Given the description of an element on the screen output the (x, y) to click on. 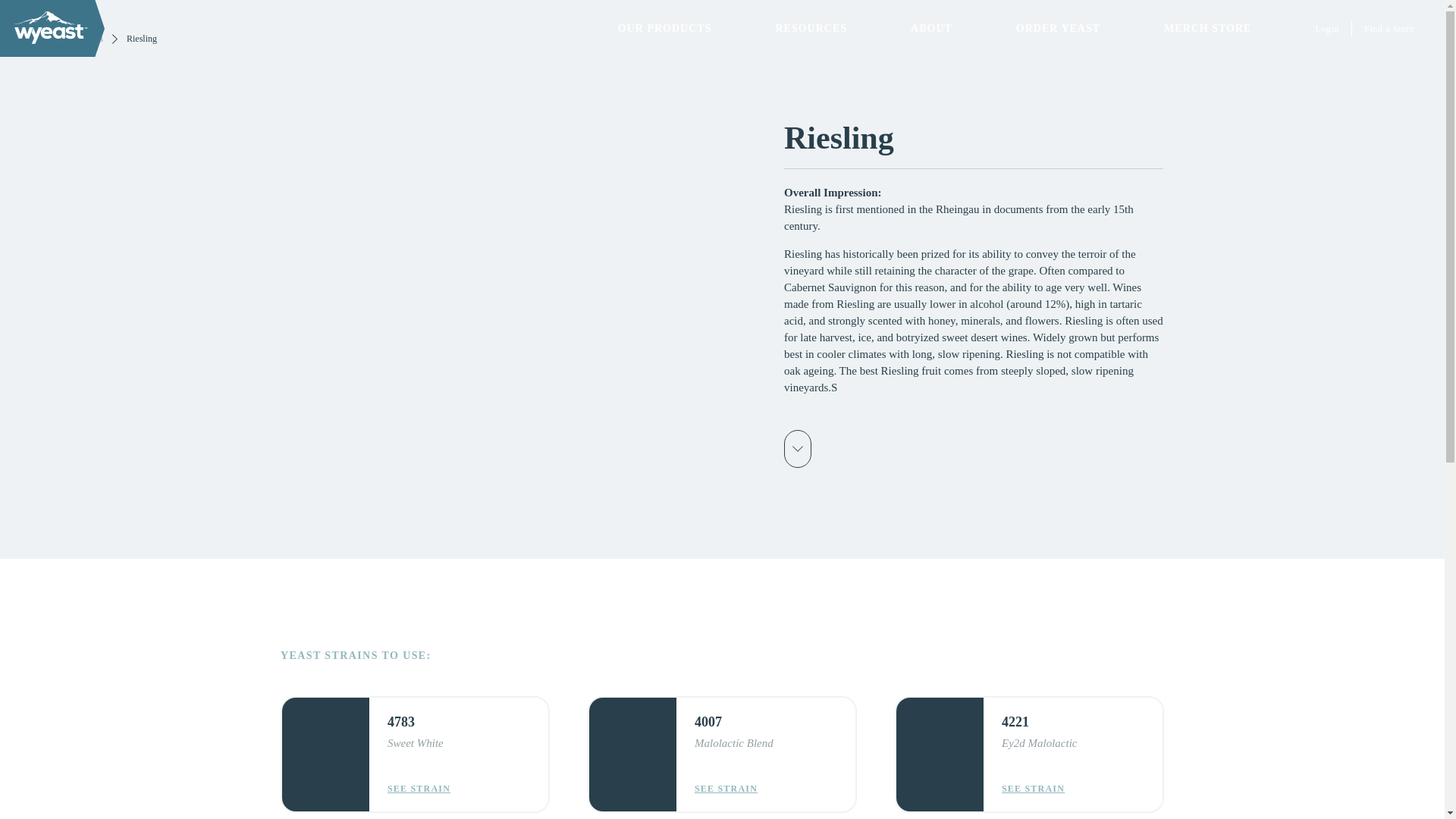
Scroll down (797, 448)
OUR PRODUCTS (664, 27)
RESOURCES (810, 27)
ABOUT (930, 27)
